Given the description of an element on the screen output the (x, y) to click on. 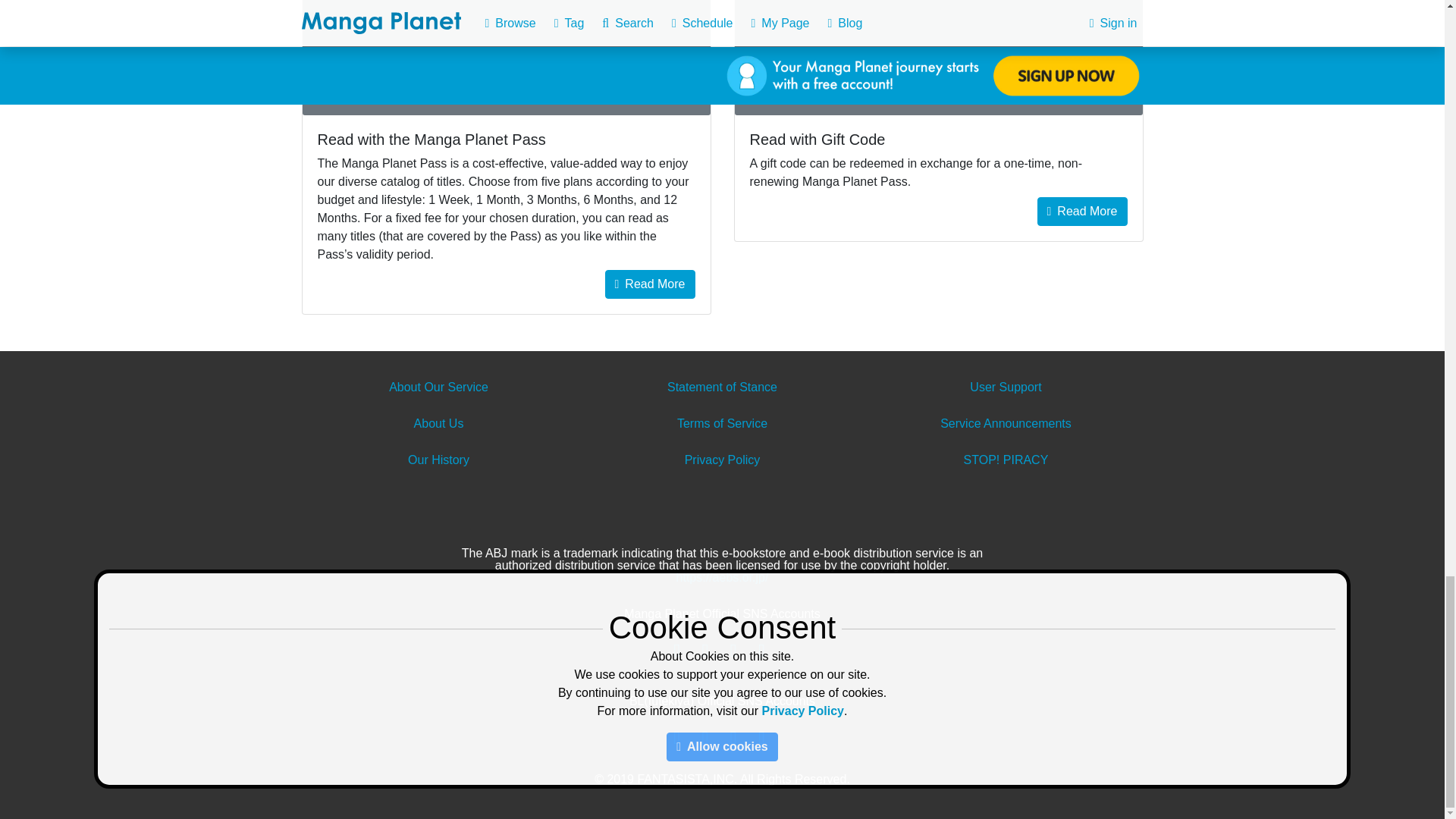
About Our Service (437, 386)
Statement of Stance (721, 386)
Our History (437, 459)
Terms of Service (722, 422)
Read More (650, 284)
STOP! PIRACY (1005, 459)
User Support (1005, 386)
Read More (1081, 211)
Privacy Policy (722, 459)
Service Announcements (1005, 422)
